Given the description of an element on the screen output the (x, y) to click on. 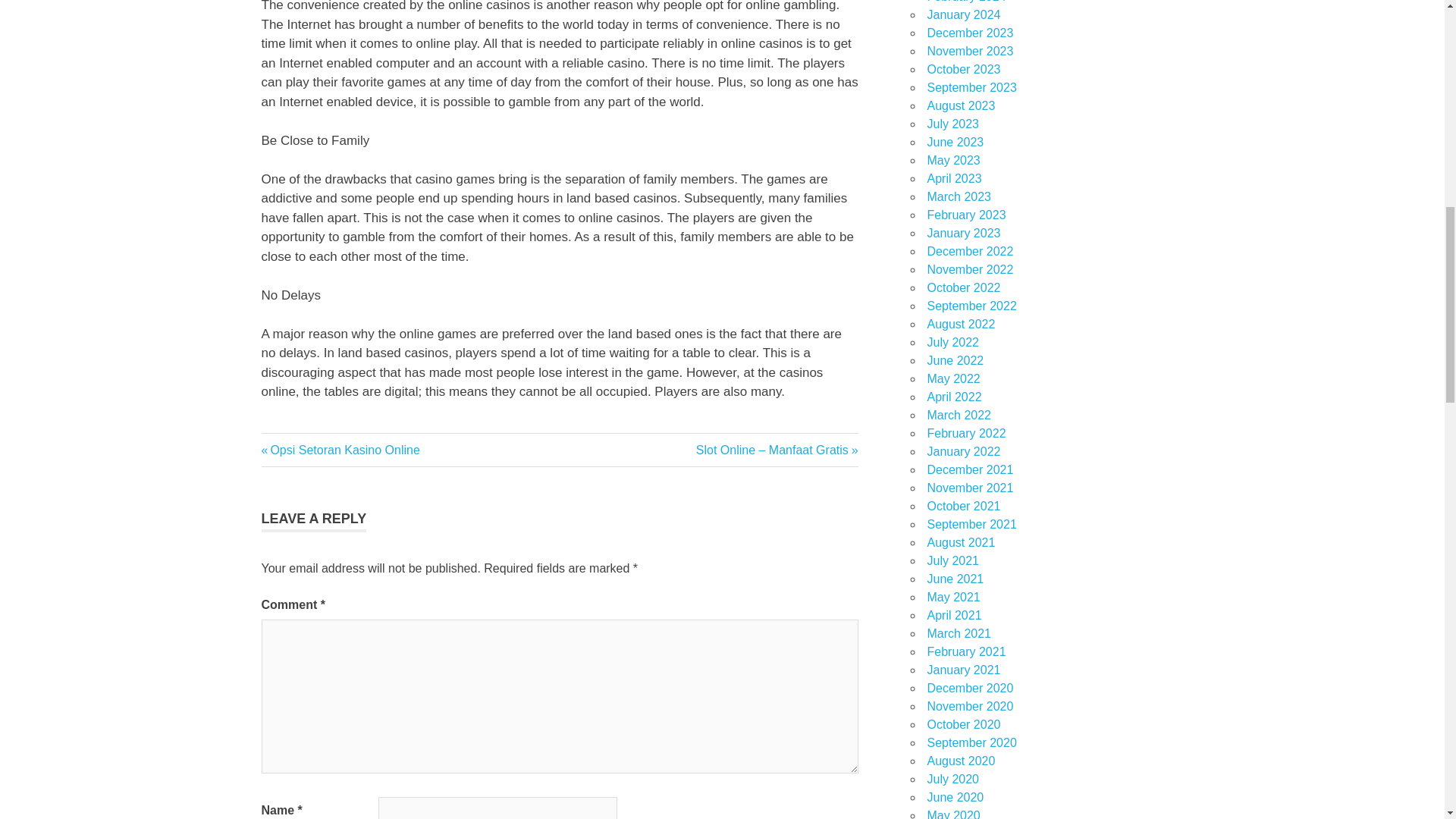
February 2024 (966, 1)
October 2023 (963, 69)
November 2023 (969, 51)
December 2023 (969, 32)
January 2024 (963, 14)
September 2023 (339, 449)
